Given the description of an element on the screen output the (x, y) to click on. 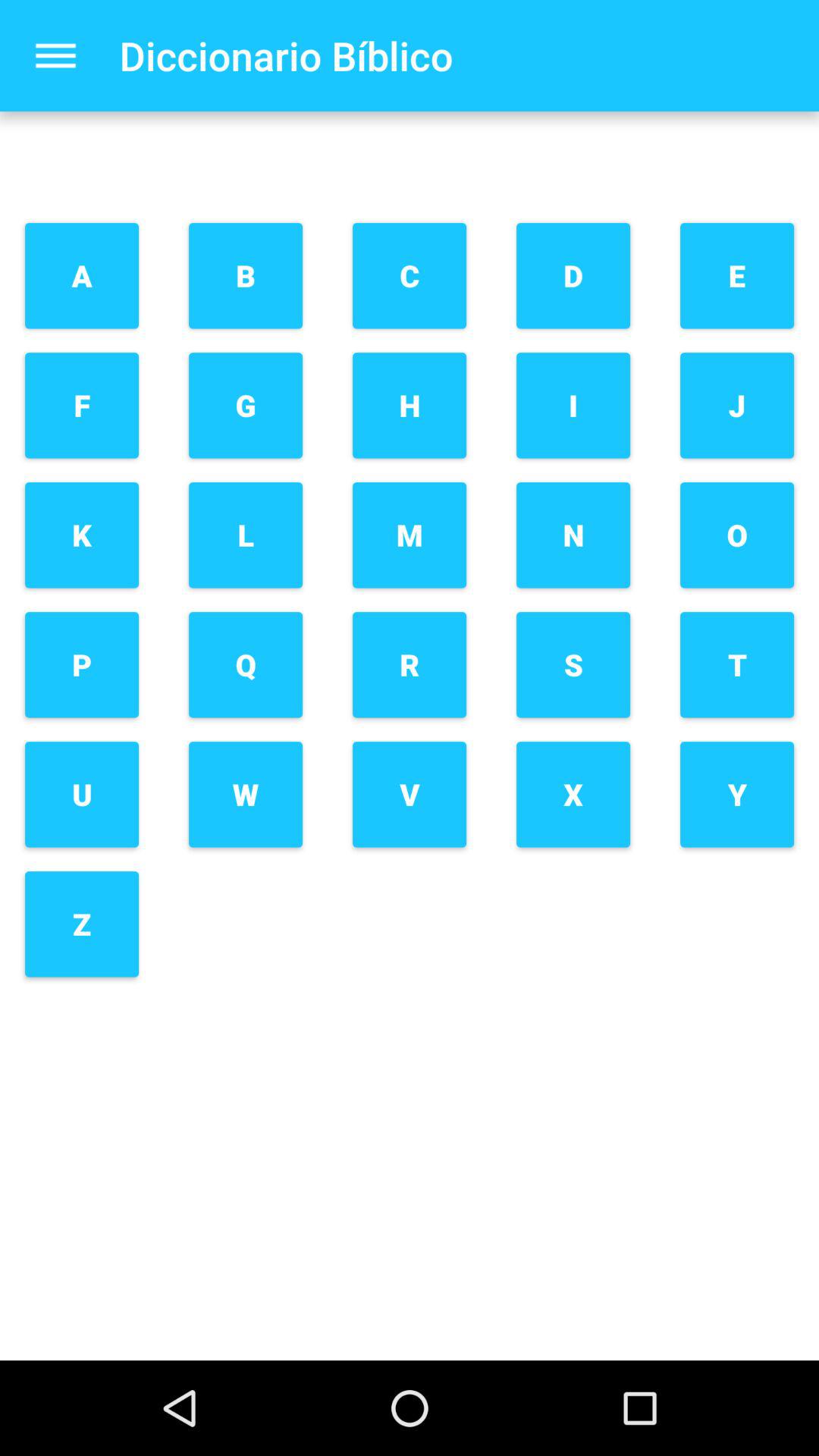
press the button next to the e (573, 275)
